Given the description of an element on the screen output the (x, y) to click on. 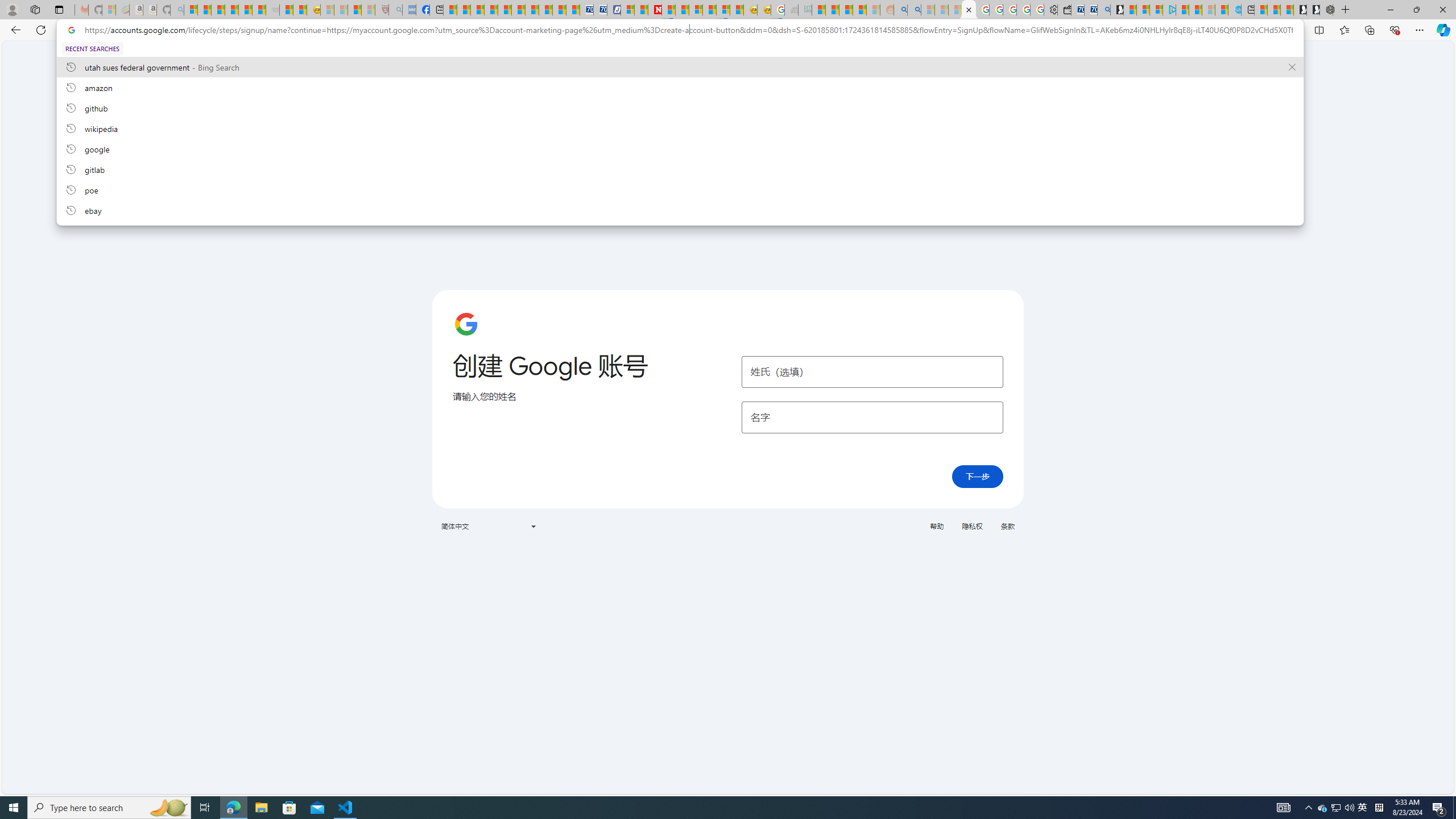
MSNBC - MSN (817, 9)
12 Popular Science Lies that Must be Corrected - Sleeping (368, 9)
Home | Sky Blue Bikes - Sky Blue Bikes (1234, 9)
Microsoft Start Gaming (1116, 9)
